Given the description of an element on the screen output the (x, y) to click on. 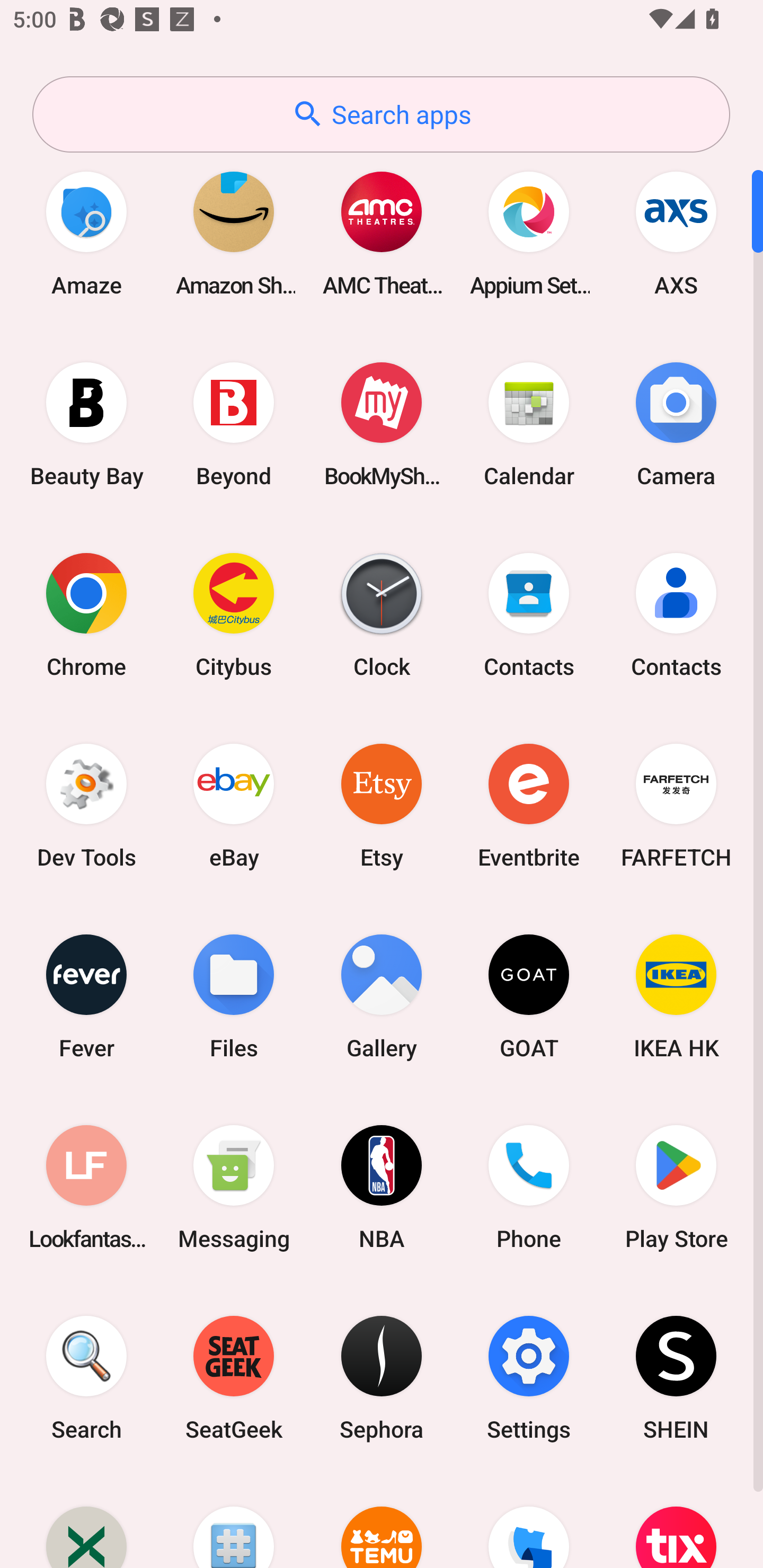
  Search apps (381, 114)
Amaze (86, 233)
Amazon Shopping (233, 233)
AMC Theatres (381, 233)
Appium Settings (528, 233)
AXS (676, 233)
Beauty Bay (86, 424)
Beyond (233, 424)
BookMyShow (381, 424)
Calendar (528, 424)
Camera (676, 424)
Chrome (86, 614)
Citybus (233, 614)
Clock (381, 614)
Contacts (528, 614)
Contacts (676, 614)
Dev Tools (86, 805)
eBay (233, 805)
Etsy (381, 805)
Eventbrite (528, 805)
FARFETCH (676, 805)
Fever (86, 996)
Files (233, 996)
Gallery (381, 996)
GOAT (528, 996)
IKEA HK (676, 996)
Lookfantastic (86, 1186)
Messaging (233, 1186)
NBA (381, 1186)
Phone (528, 1186)
Play Store (676, 1186)
Search (86, 1377)
SeatGeek (233, 1377)
Sephora (381, 1377)
Settings (528, 1377)
SHEIN (676, 1377)
StockX (86, 1520)
Superuser (233, 1520)
Temu (381, 1520)
TickPick (528, 1520)
TodayTix (676, 1520)
